Given the description of an element on the screen output the (x, y) to click on. 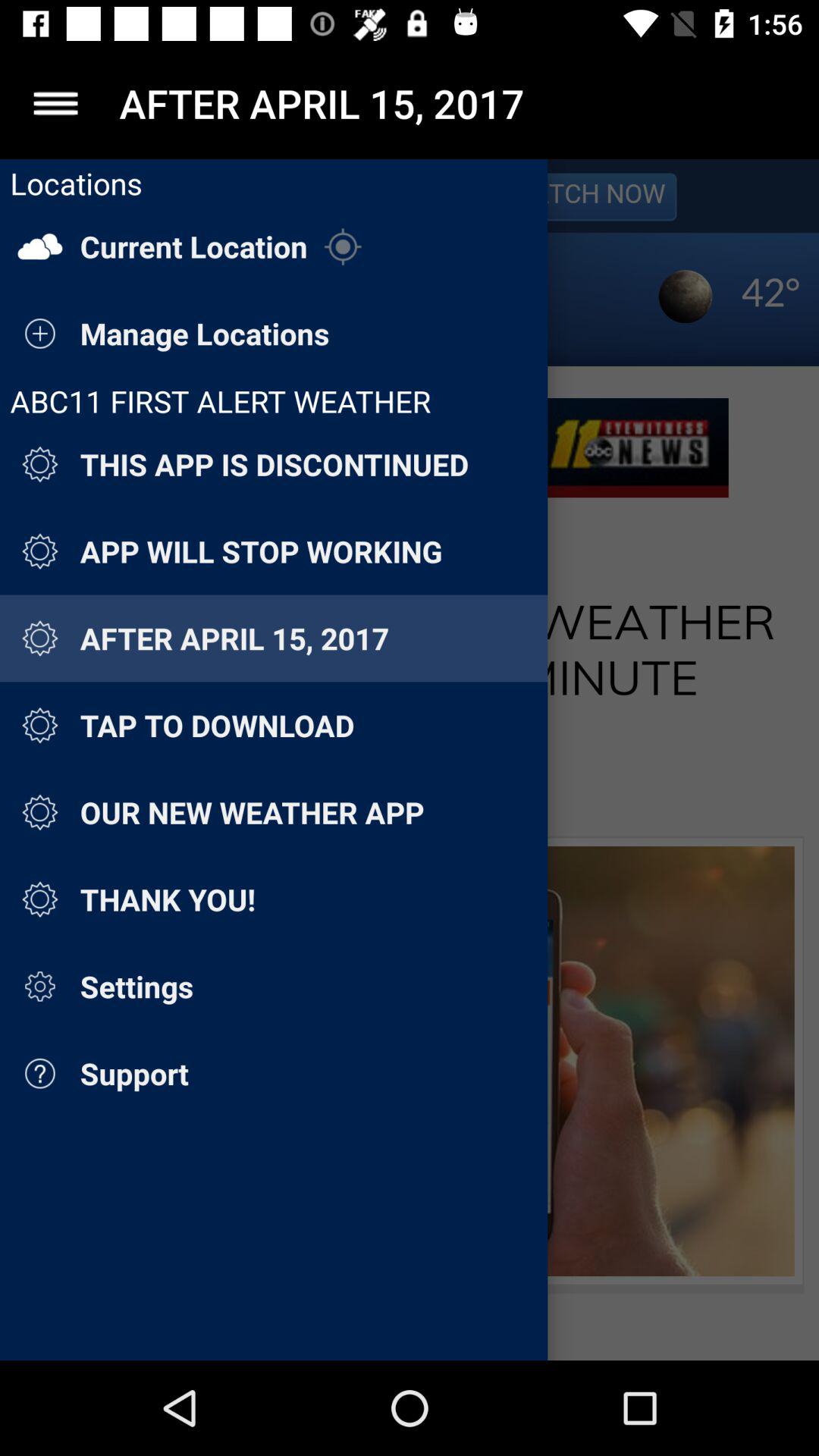
select item next to after april 15 (55, 103)
